Given the description of an element on the screen output the (x, y) to click on. 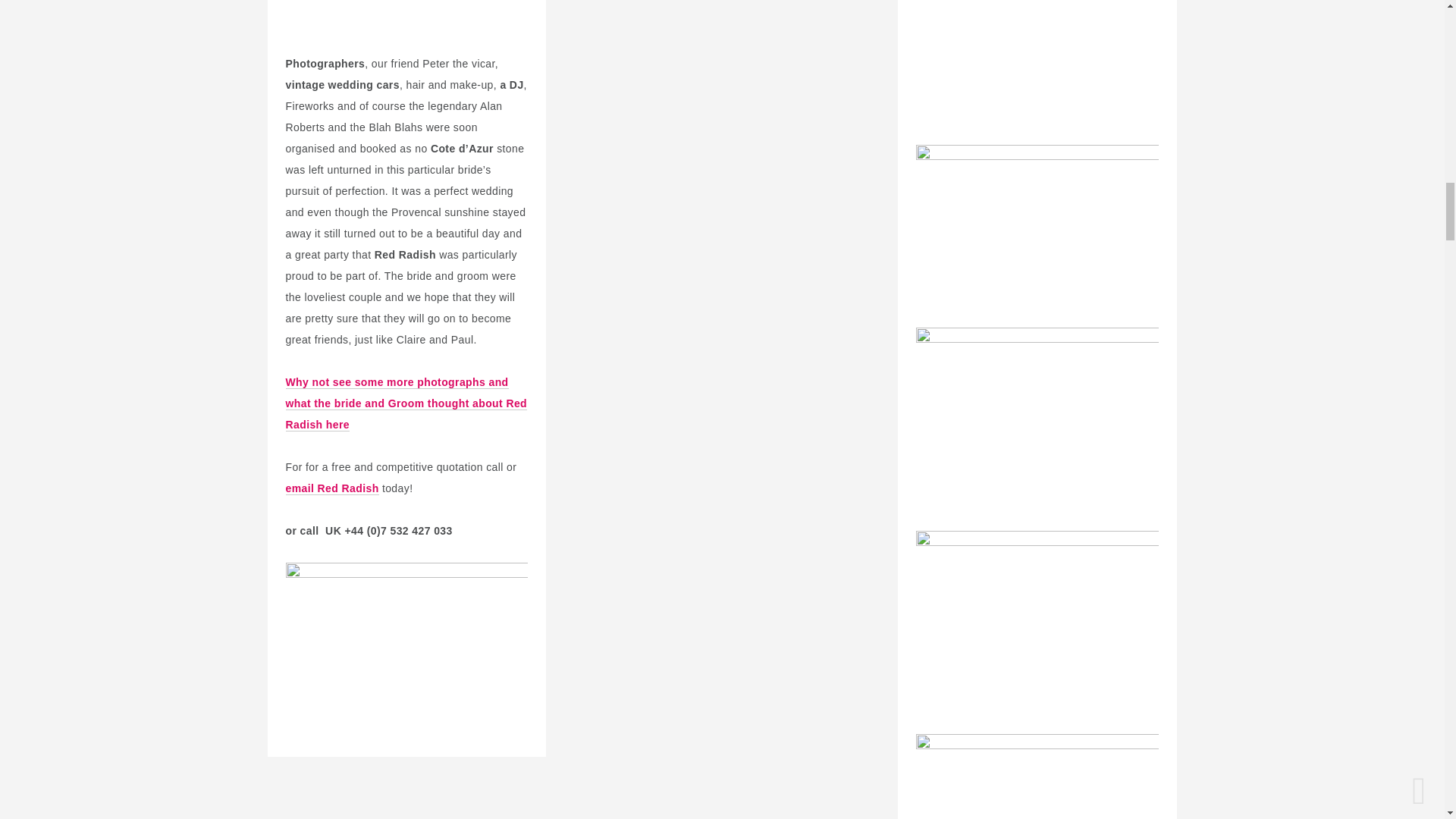
Driving off to a lifetime of happiness (406, 621)
Customer Reference (406, 413)
Alan Roberts lead singer with The Blah Blahs (406, 21)
email Red Radish (331, 488)
